Given the description of an element on the screen output the (x, y) to click on. 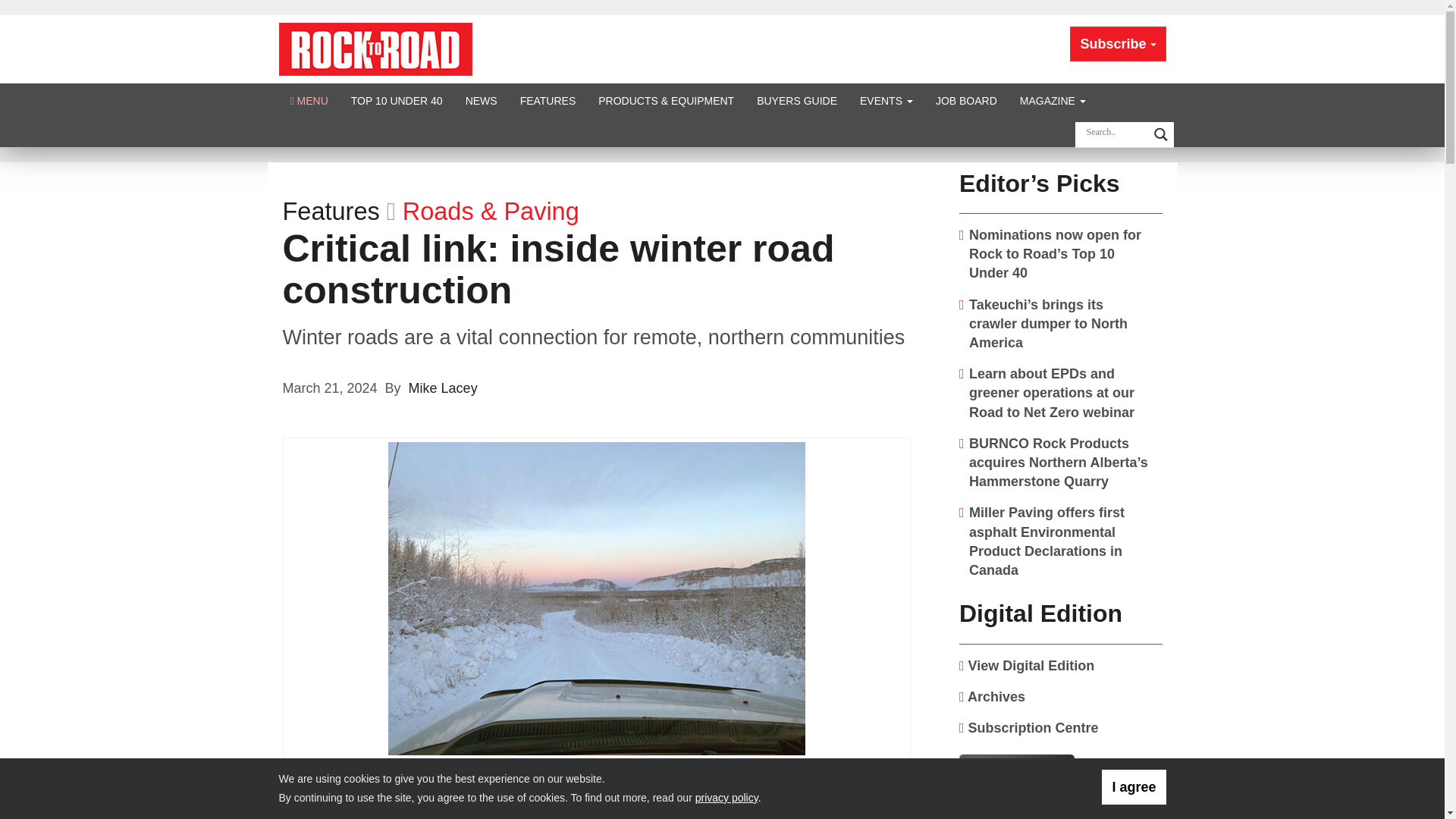
MAGAZINE (1053, 100)
Click to show site navigation (309, 100)
EVENTS (886, 100)
FEATURES (548, 100)
JOB BOARD (966, 100)
Rock to Road (375, 48)
NEWS (481, 100)
BUYERS GUIDE (796, 100)
Subscribe (1118, 43)
MENU (309, 100)
TOP 10 UNDER 40 (396, 100)
